Given the description of an element on the screen output the (x, y) to click on. 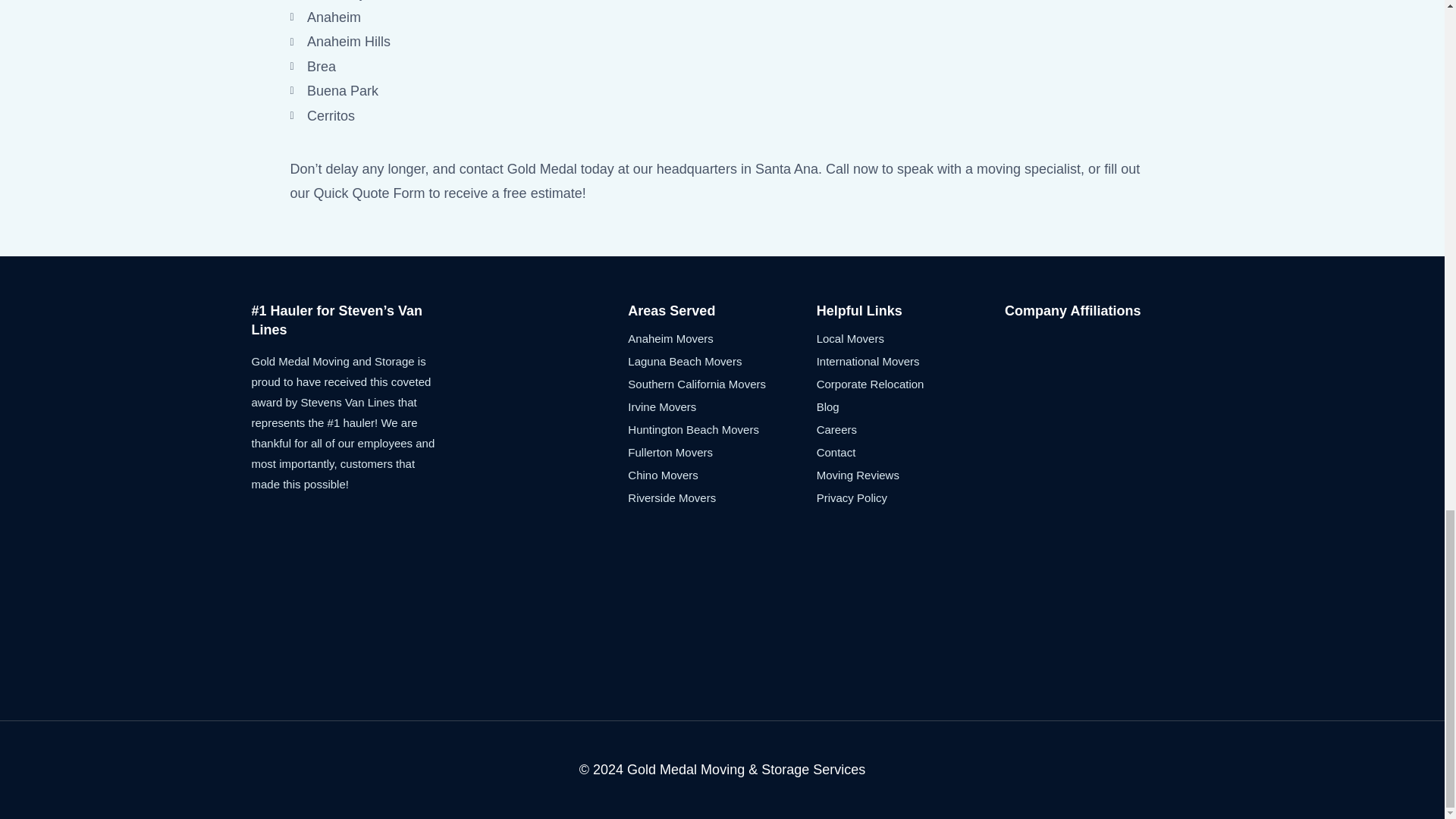
Anaheim Movers (721, 338)
Privacy Policy (910, 497)
Riverside Movers (721, 497)
Fullerton Movers (721, 452)
Southern California Movers (721, 384)
Contact (910, 452)
Irvine Movers (721, 406)
Moving Reviews (910, 475)
Local Movers (910, 338)
Huntington Beach Movers (721, 429)
